Given the description of an element on the screen output the (x, y) to click on. 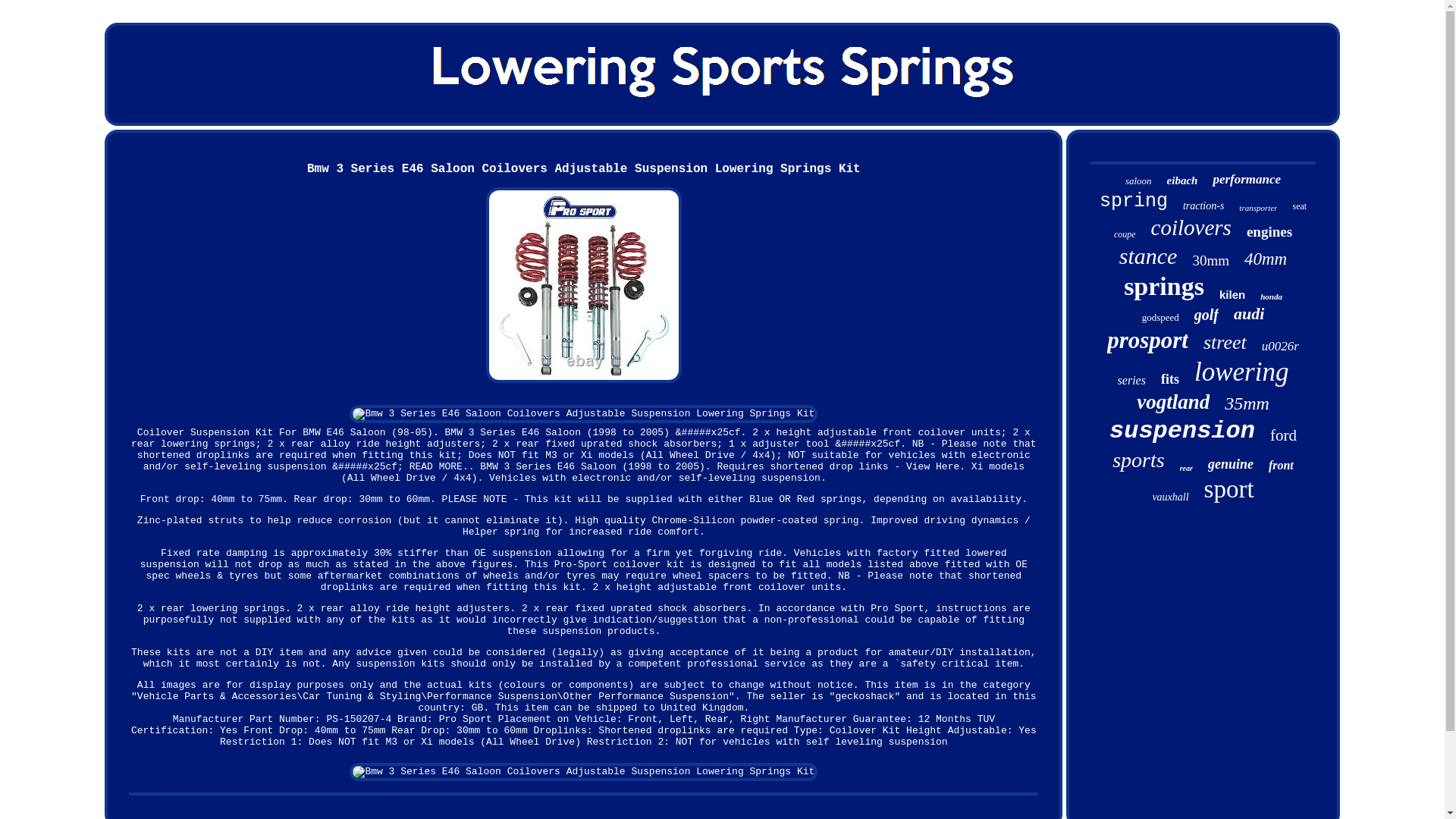
springs (1164, 286)
saloon (1138, 181)
lowering (1240, 372)
seat (1299, 206)
fits (1169, 379)
coilovers (1191, 227)
u0026r (1280, 346)
spring (1133, 201)
performance (1246, 179)
engines (1269, 231)
coupe (1124, 234)
prosport (1147, 339)
series (1131, 380)
